Given the description of an element on the screen output the (x, y) to click on. 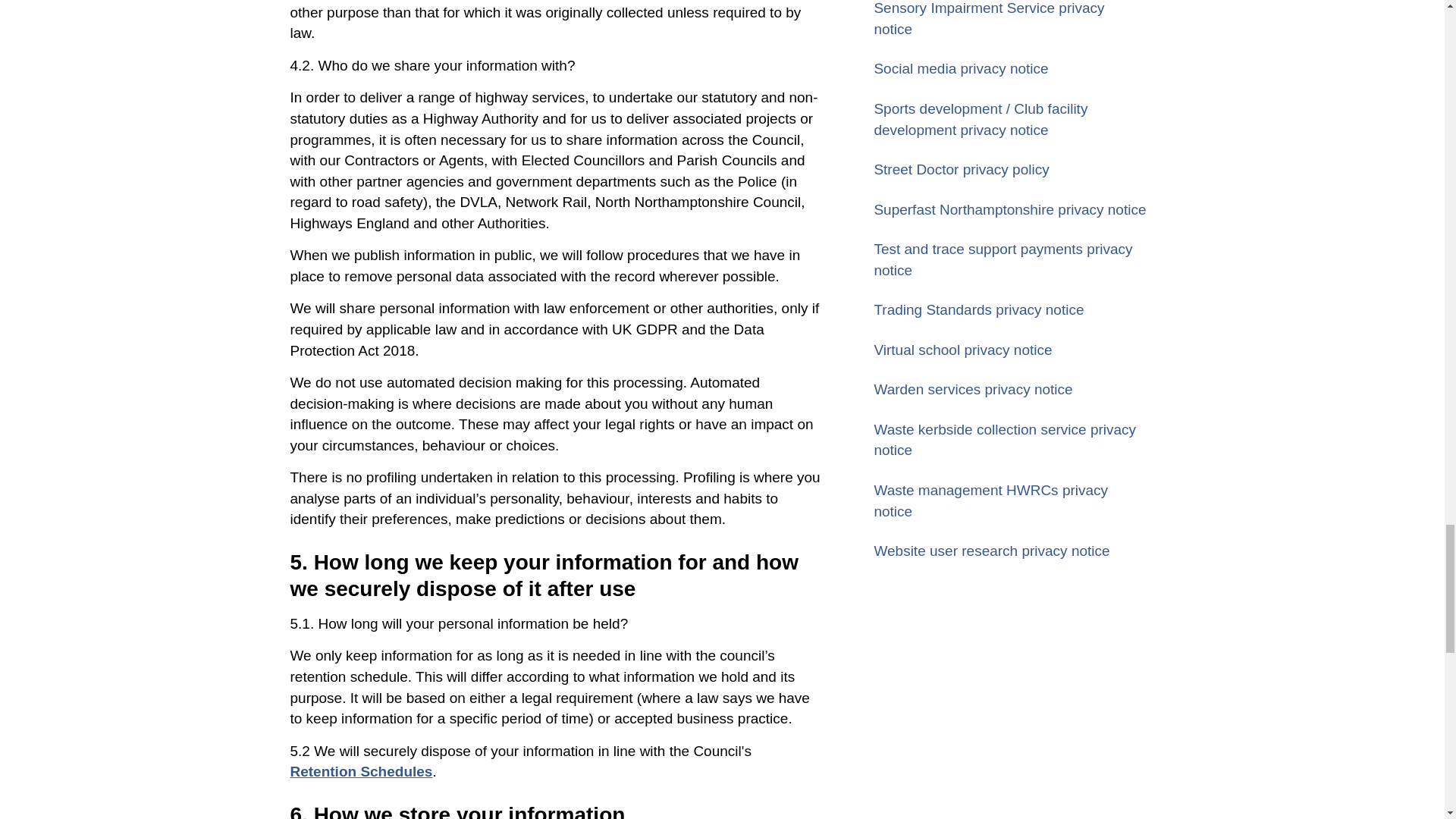
Retention Schedules (360, 771)
